Given the description of an element on the screen output the (x, y) to click on. 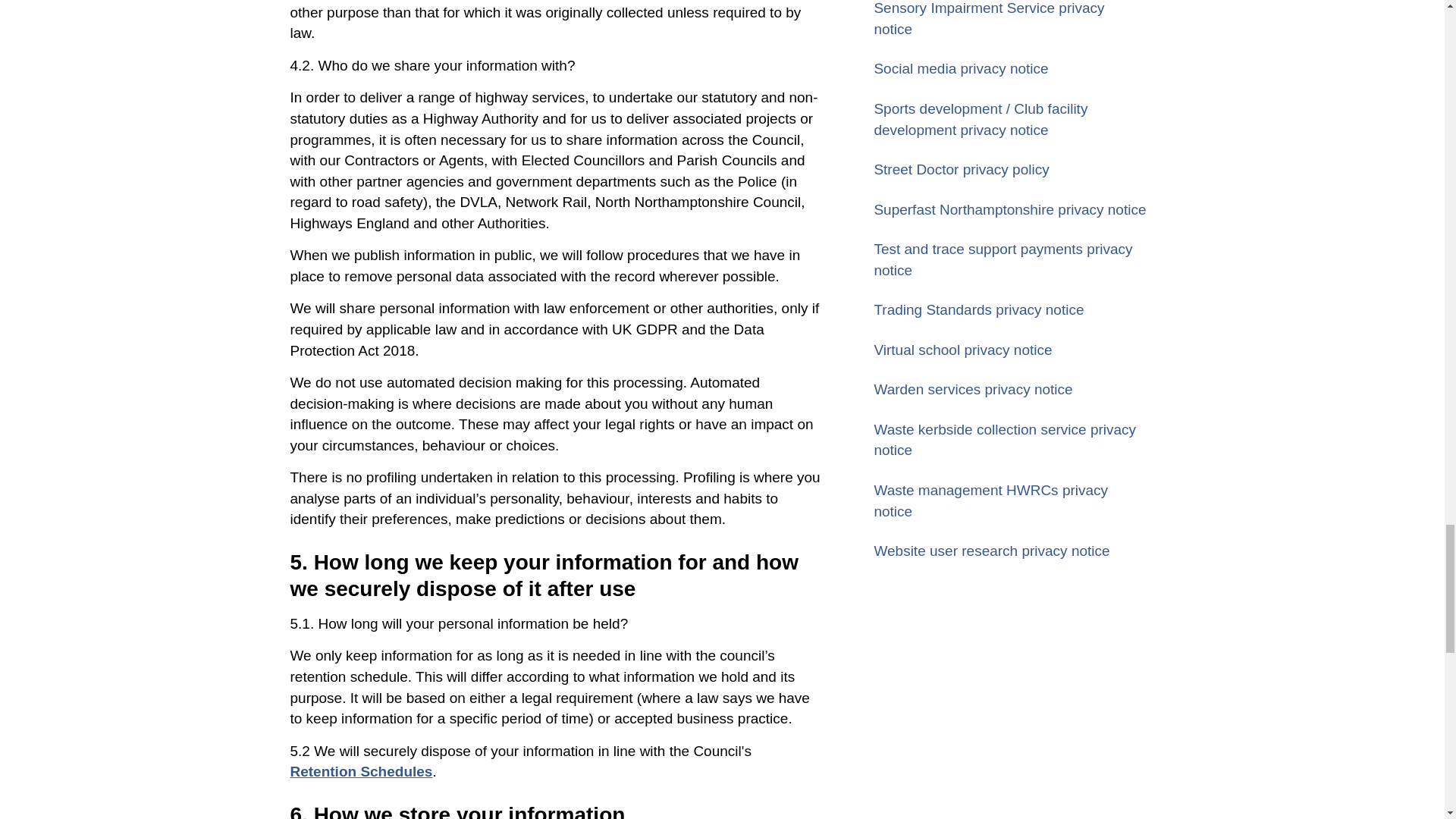
Retention Schedules (360, 771)
